Given the description of an element on the screen output the (x, y) to click on. 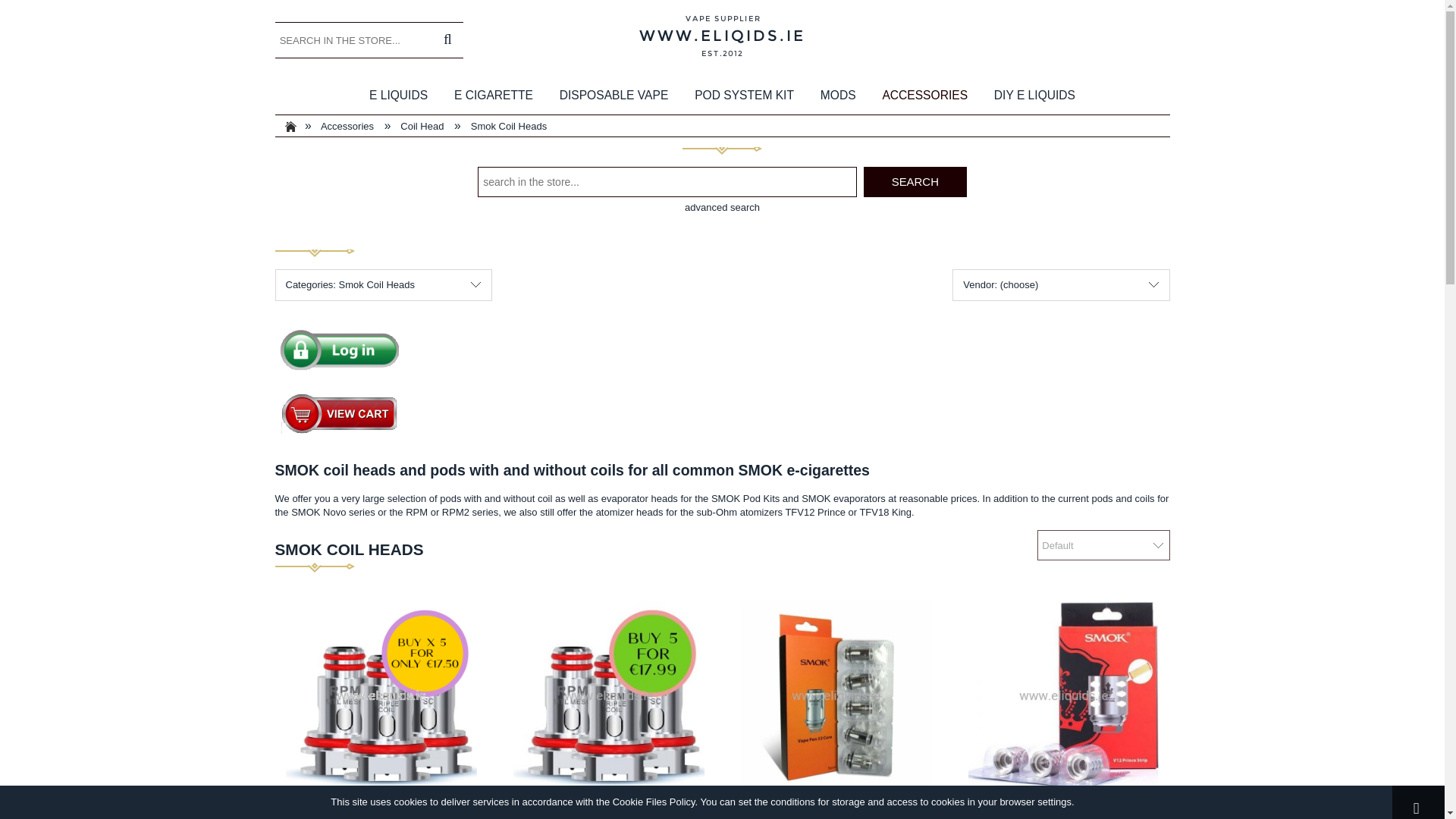
Home page (721, 36)
E LIQUIDS (397, 95)
E Liquids (397, 95)
